Given the description of an element on the screen output the (x, y) to click on. 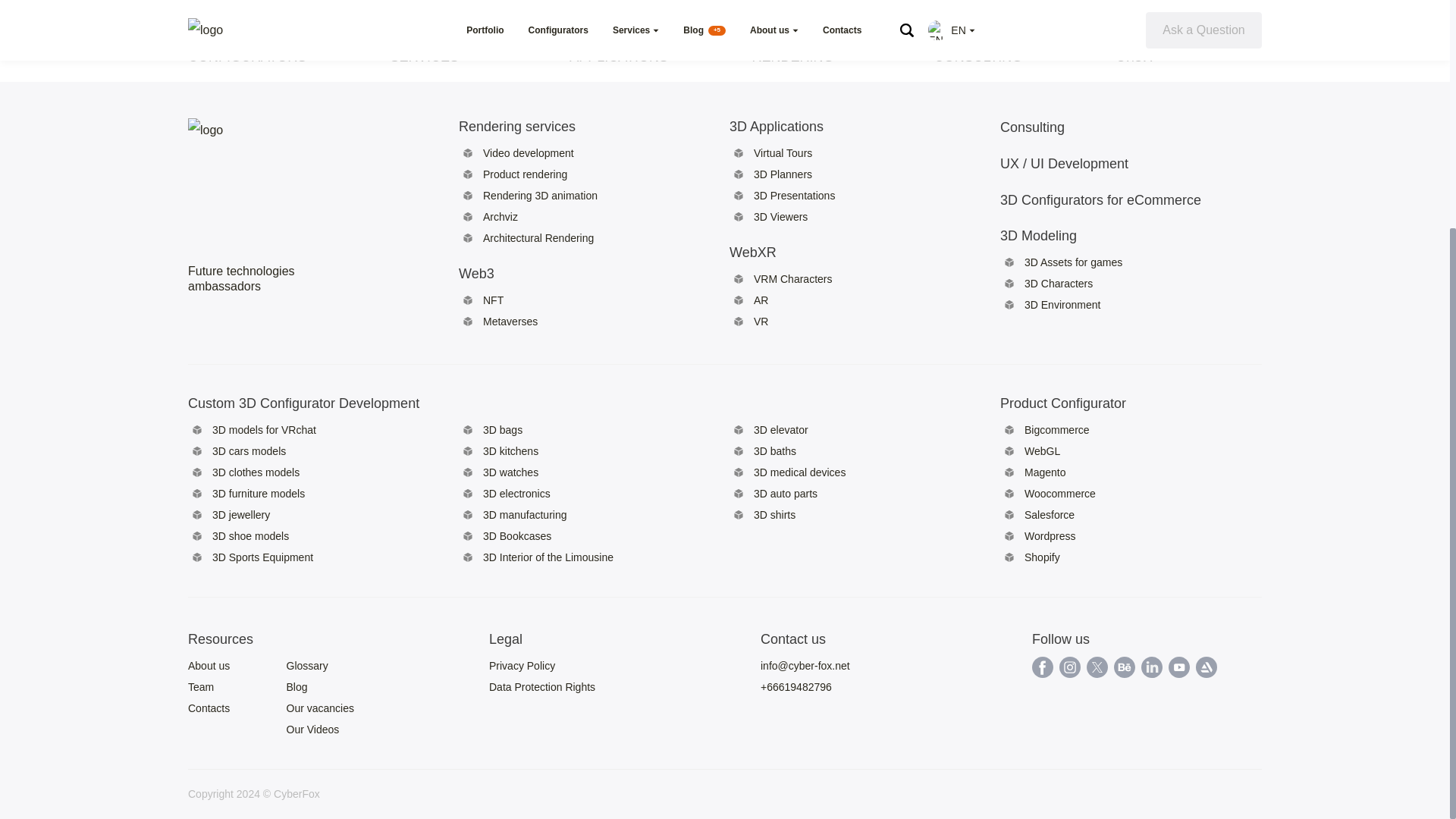
Rendering 3D animation (539, 195)
SERVICES (424, 56)
Architectural Rendering (538, 237)
Product rendering (525, 174)
RENDERING (791, 56)
NFT (493, 300)
APPLICATIONS (618, 56)
CONFIGURATORS (246, 56)
Rendering services (539, 126)
Video development (528, 152)
Web3 (539, 273)
Archviz (500, 216)
CONSULTING (978, 56)
